Given the description of an element on the screen output the (x, y) to click on. 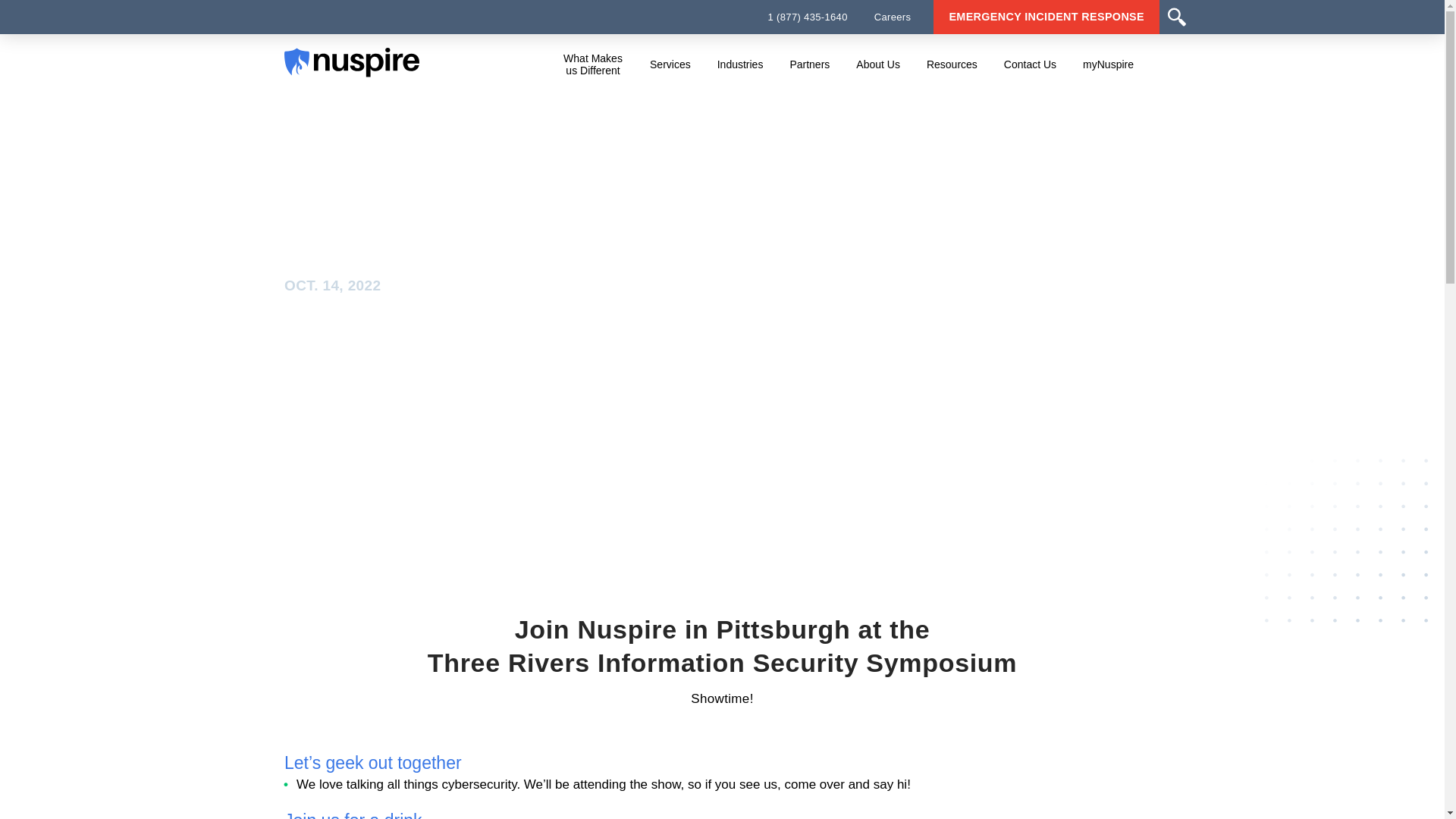
EMERGENCY INCIDENT RESPONSE (1045, 17)
What Makes us Different (592, 64)
Careers (892, 17)
